Given the description of an element on the screen output the (x, y) to click on. 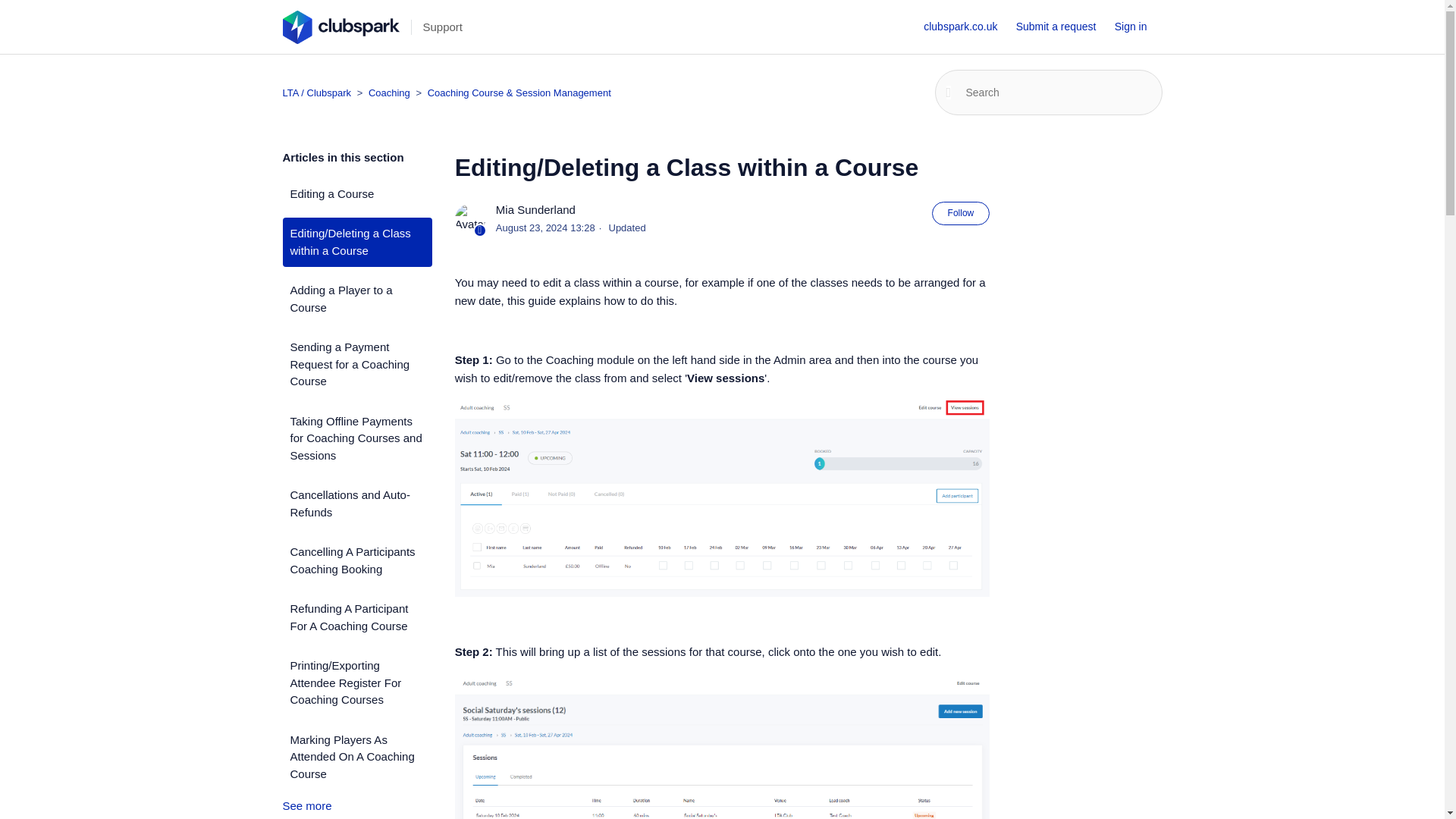
Cancelling A Participants Coaching Booking (356, 560)
Coaching  (383, 92)
2024-08-23T13:28:30Z (545, 227)
clubspark.co.uk (967, 26)
Sending a Payment Request for a Coaching Course (356, 364)
Marking Players As Attended On A Coaching Course (356, 756)
Coaching (390, 92)
Follow (960, 212)
Editing a Course (356, 193)
See more (306, 805)
